Given the description of an element on the screen output the (x, y) to click on. 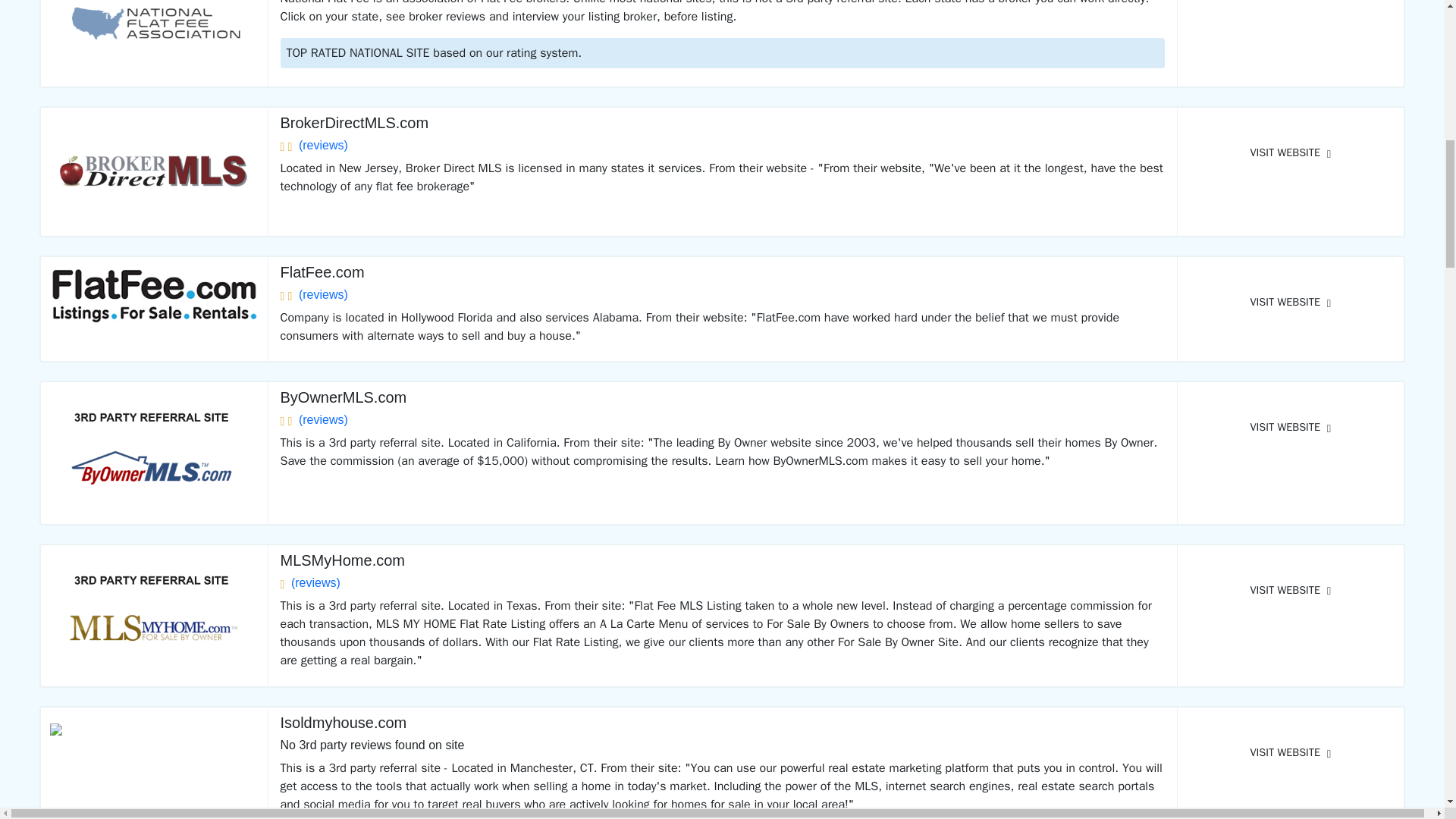
VISIT WEBSITE   (1290, 752)
VISIT WEBSITE   (1290, 590)
VISIT WEBSITE   (1290, 302)
VISIT WEBSITE   (1290, 153)
VISIT WEBSITE   (1290, 427)
VISIT WEBSITE   (1290, 5)
